Given the description of an element on the screen output the (x, y) to click on. 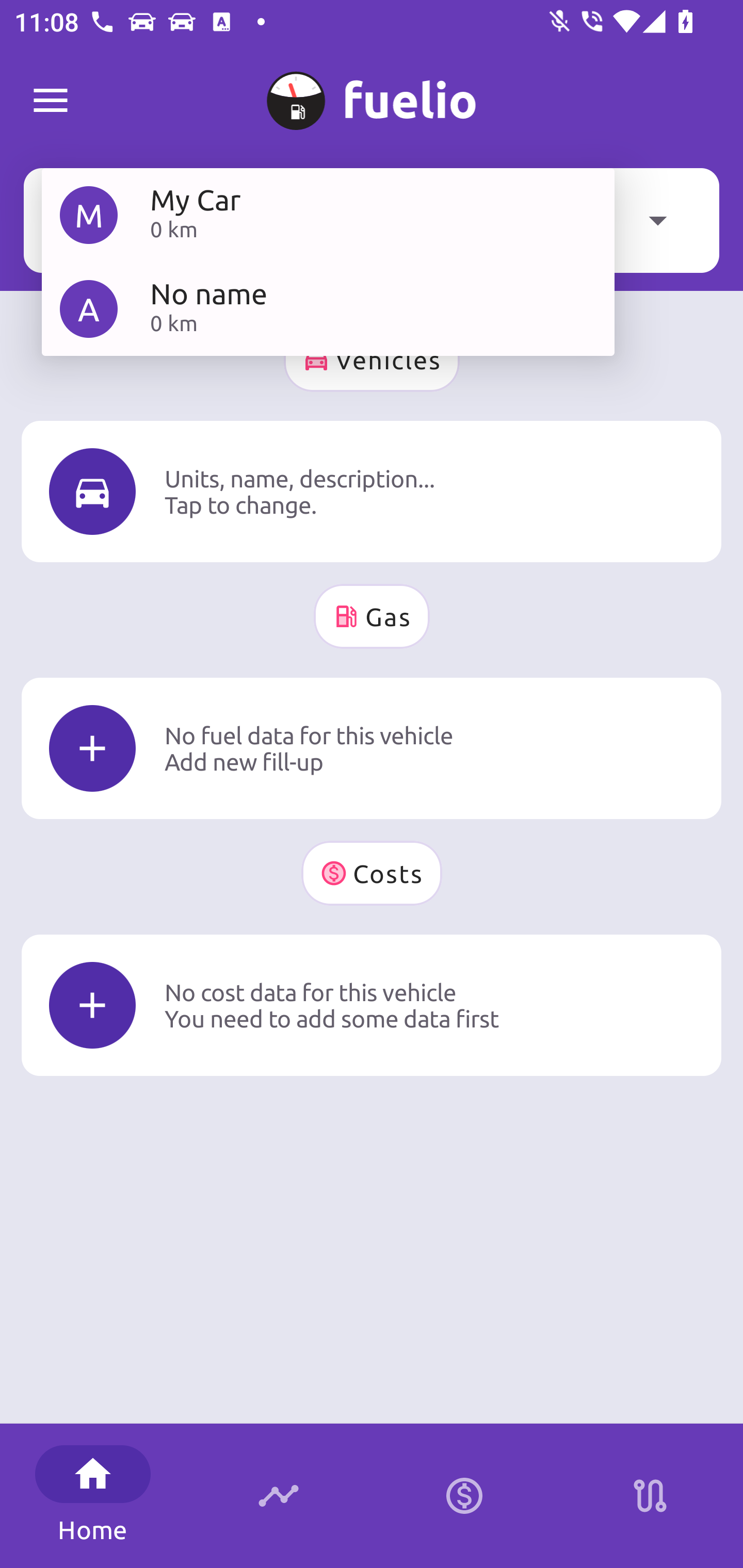
M My Car 0 km (327, 214)
A No name 0 km (327, 308)
